Given the description of an element on the screen output the (x, y) to click on. 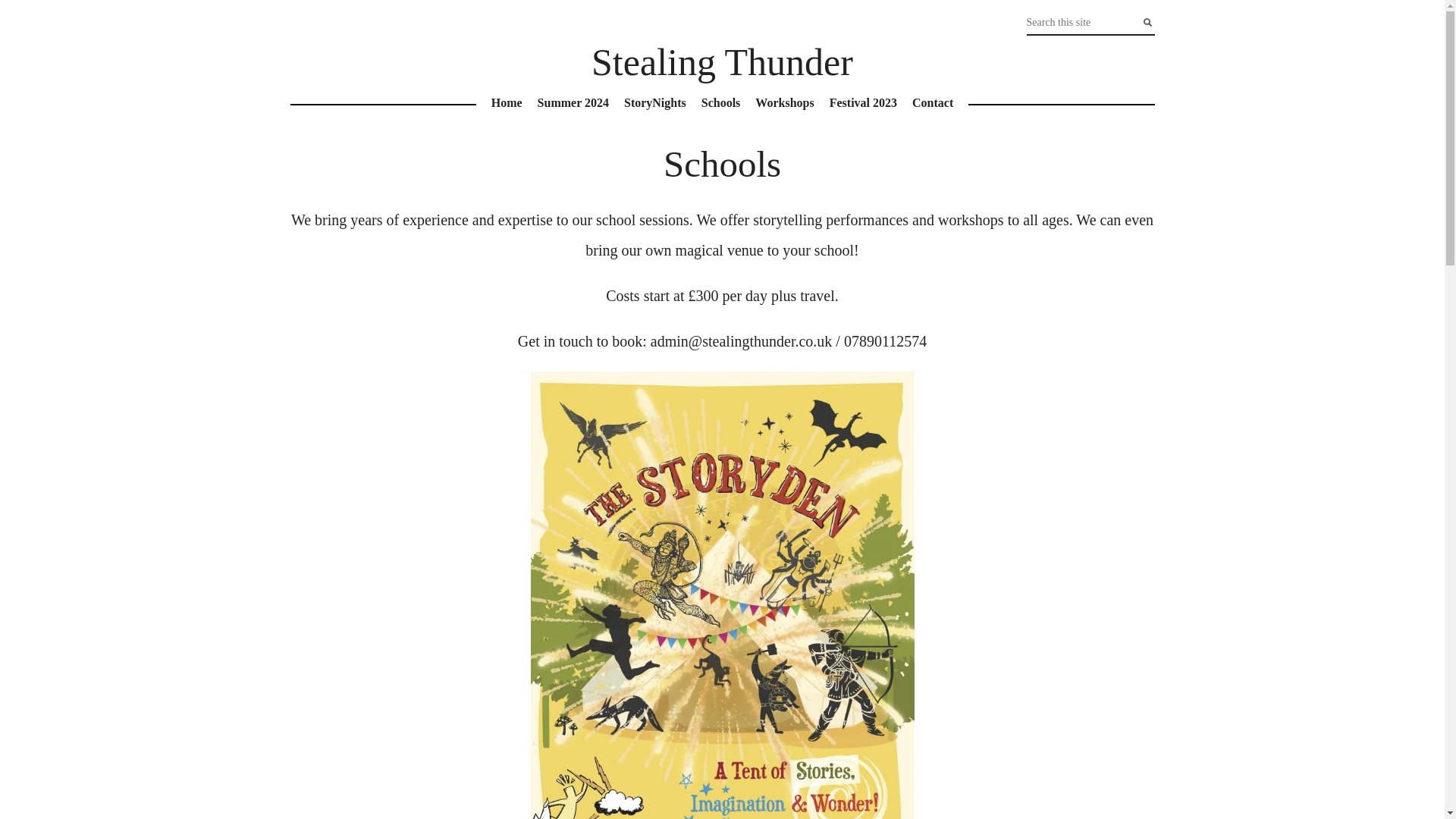
Workshops (784, 102)
Summer 2024 (572, 102)
Home (506, 102)
Schools (721, 164)
Stealing Thunder (722, 61)
StoryNights (654, 102)
Schools (721, 102)
Festival 2023 (863, 102)
